Given the description of an element on the screen output the (x, y) to click on. 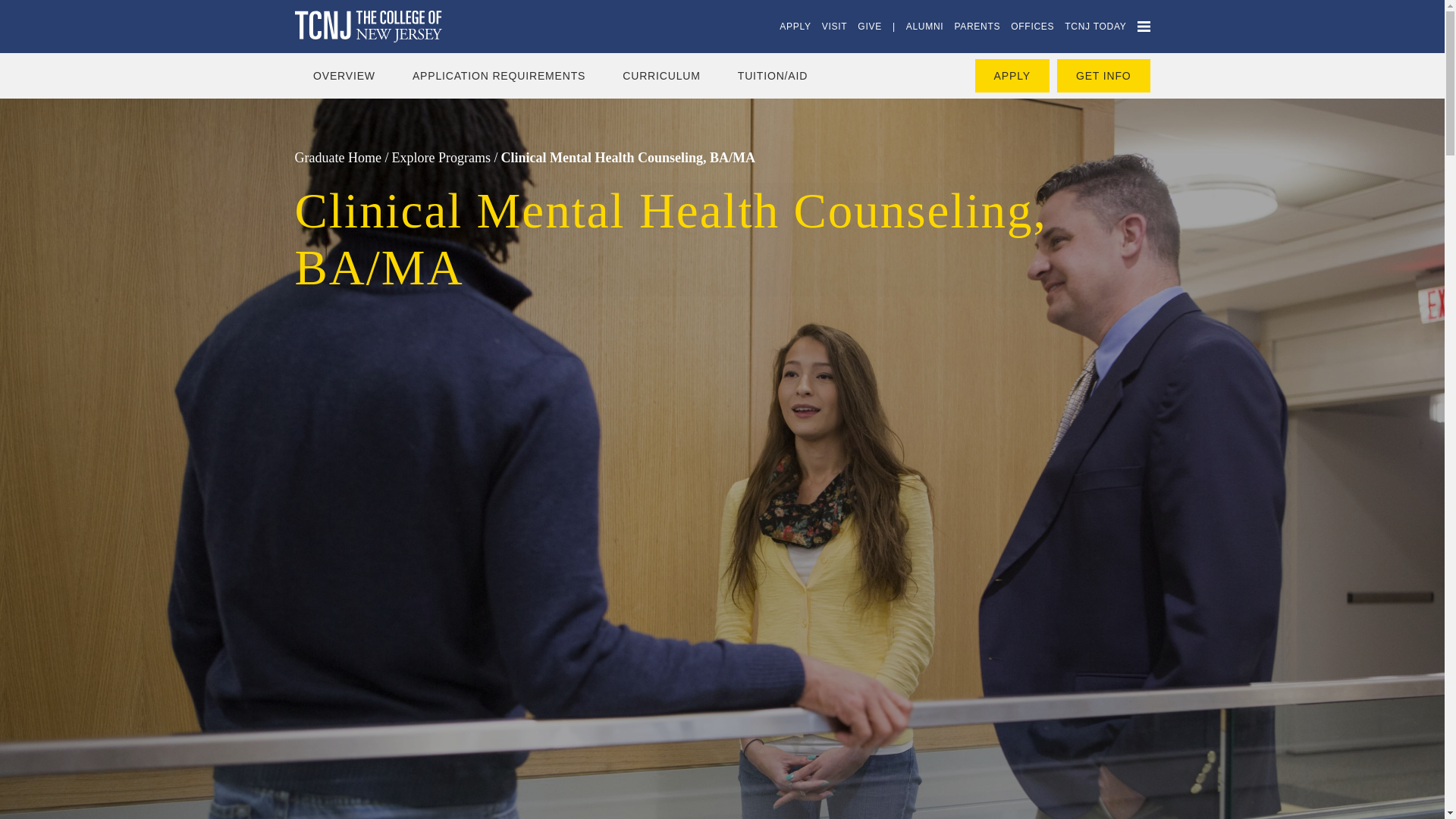
submit (21, 7)
APPLICATION REQUIREMENTS (498, 75)
OVERVIEW (344, 75)
